Given the description of an element on the screen output the (x, y) to click on. 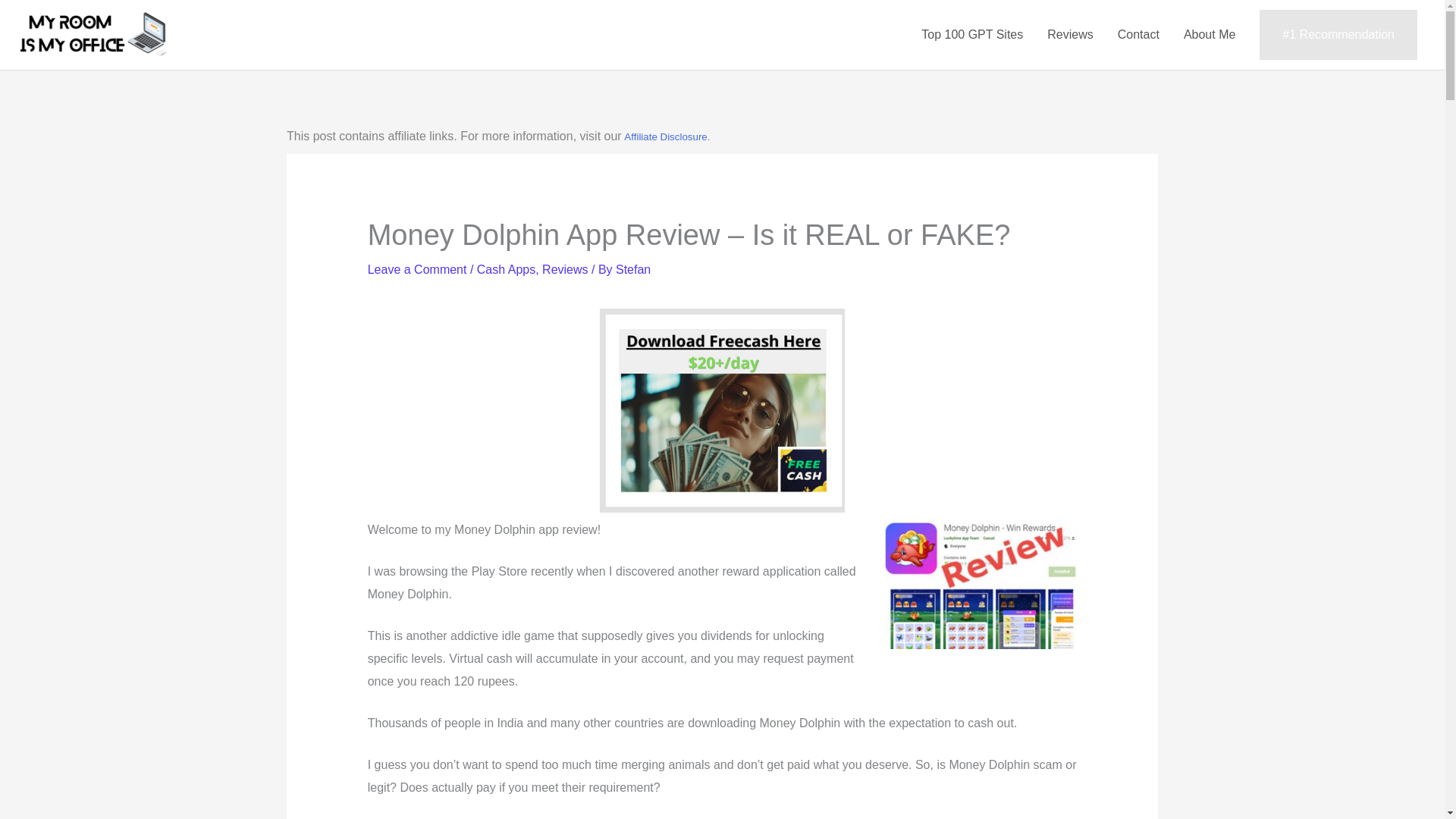
Leave a Comment (417, 269)
Stefan (632, 269)
Contact (1138, 34)
View all posts by Stefan (632, 269)
Top 100 GPT Sites (971, 34)
Reviews (1070, 34)
Cash Apps (506, 269)
Affiliate Disclosure (665, 136)
Reviews (564, 269)
About Me (1209, 34)
